Given the description of an element on the screen output the (x, y) to click on. 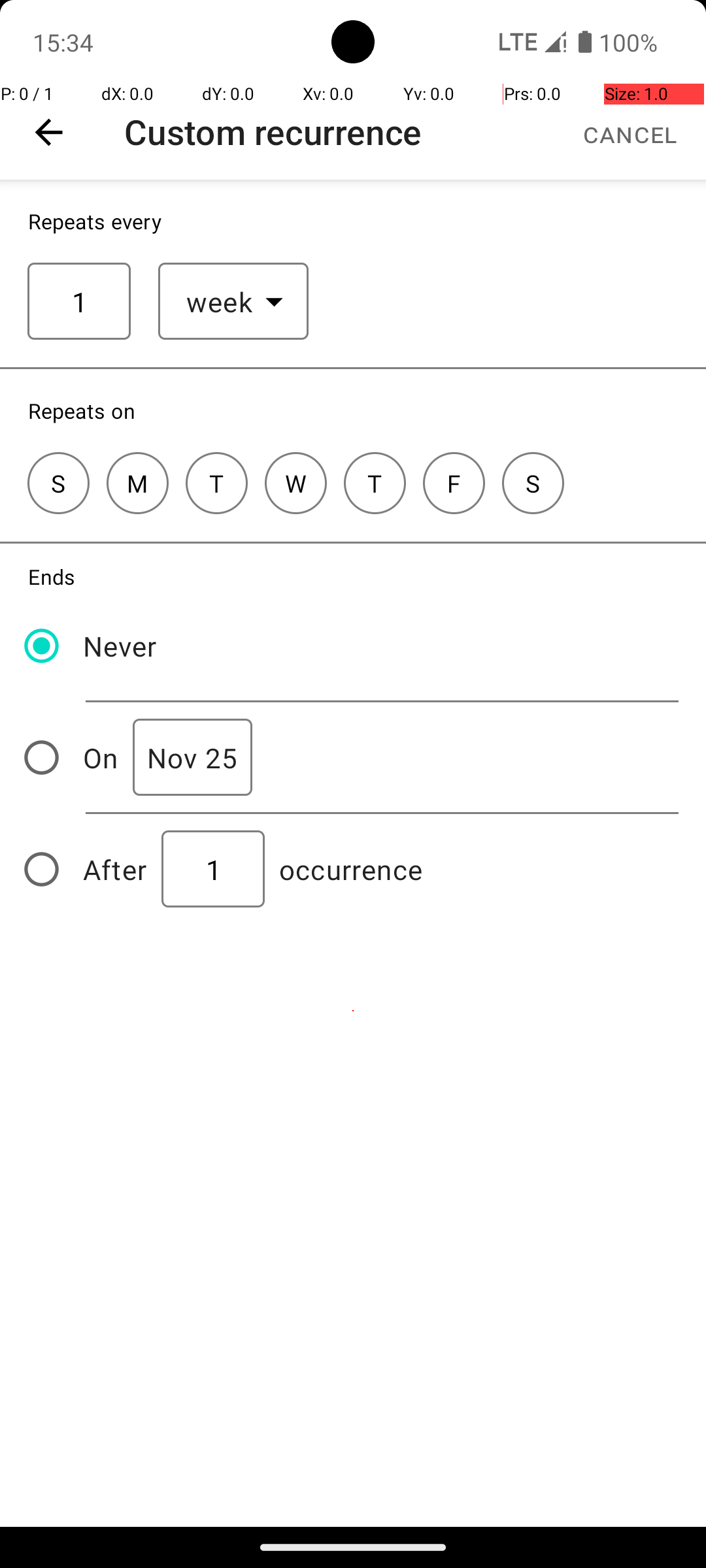
Repeats every Element type: android.widget.TextView (94, 221)
Repeats on Element type: android.widget.TextView (81, 410)
Ends Element type: android.widget.TextView (51, 576)
Custom recurrence Element type: android.widget.TextView (273, 131)
week Element type: android.widget.TextView (219, 301)
Never Element type: android.widget.TextView (120, 645)
After Element type: android.widget.TextView (114, 868)
occurrence Element type: android.widget.TextView (350, 868)
Nov 25 Element type: android.widget.TextView (192, 757)
